Given the description of an element on the screen output the (x, y) to click on. 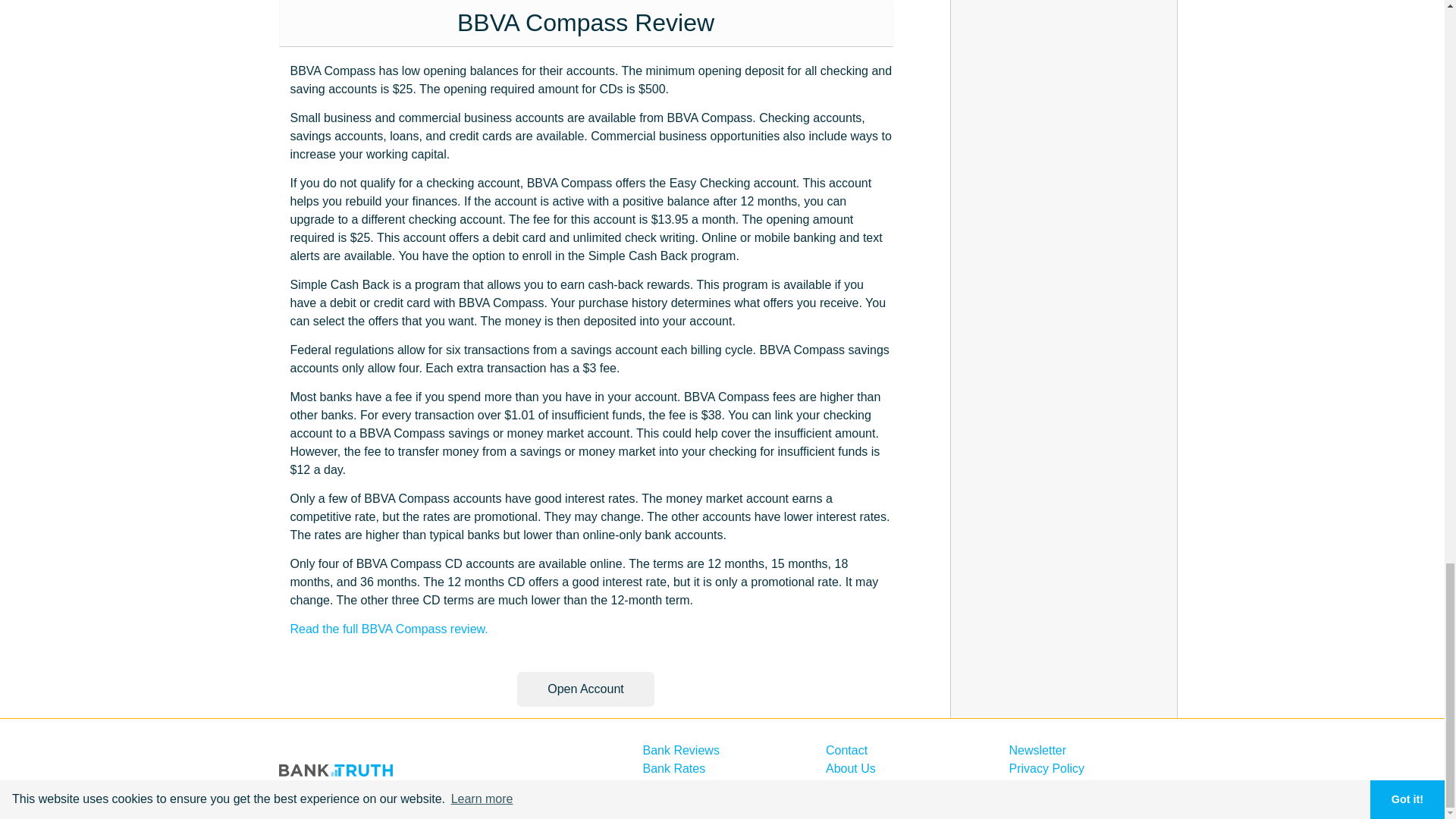
Newsletter (1037, 749)
Read the full BBVA Compass review. (388, 628)
Contact (846, 749)
Compare Banks (686, 786)
About Us (850, 768)
Terms of Service (1054, 786)
Privacy Policy (1046, 768)
Bank Reviews (681, 749)
Sitemap (847, 786)
Bank Rates (674, 768)
